Given the description of an element on the screen output the (x, y) to click on. 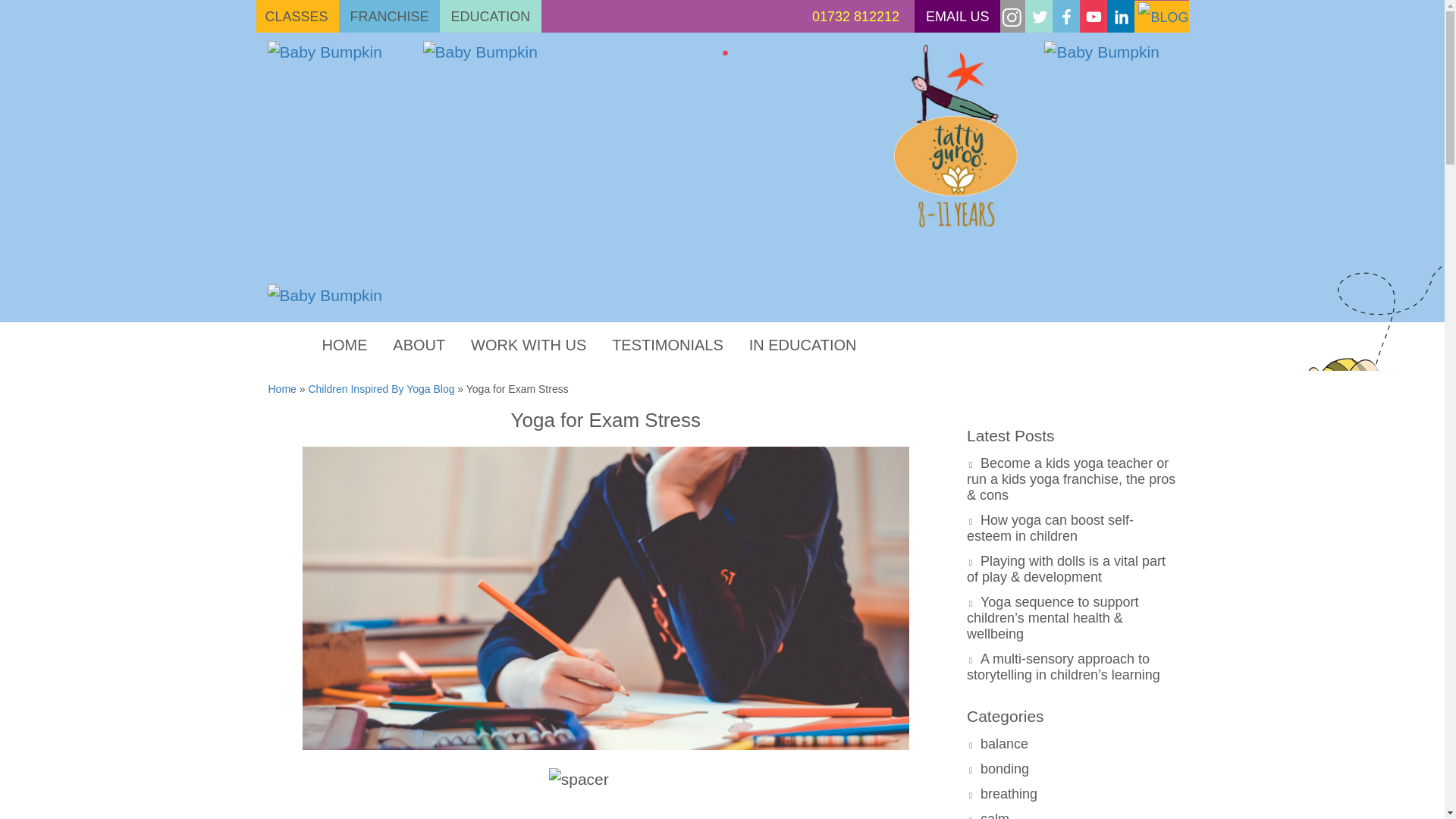
TESTIMONIALS (667, 345)
ABOUT (418, 345)
Home (282, 388)
HOME (344, 345)
EDUCATION (491, 16)
CLASSES (296, 16)
Children Inspired By Yoga Blog (380, 388)
WORK WITH US (528, 345)
IN EDUCATION (802, 345)
FIND A CLASS (1000, 321)
